Given the description of an element on the screen output the (x, y) to click on. 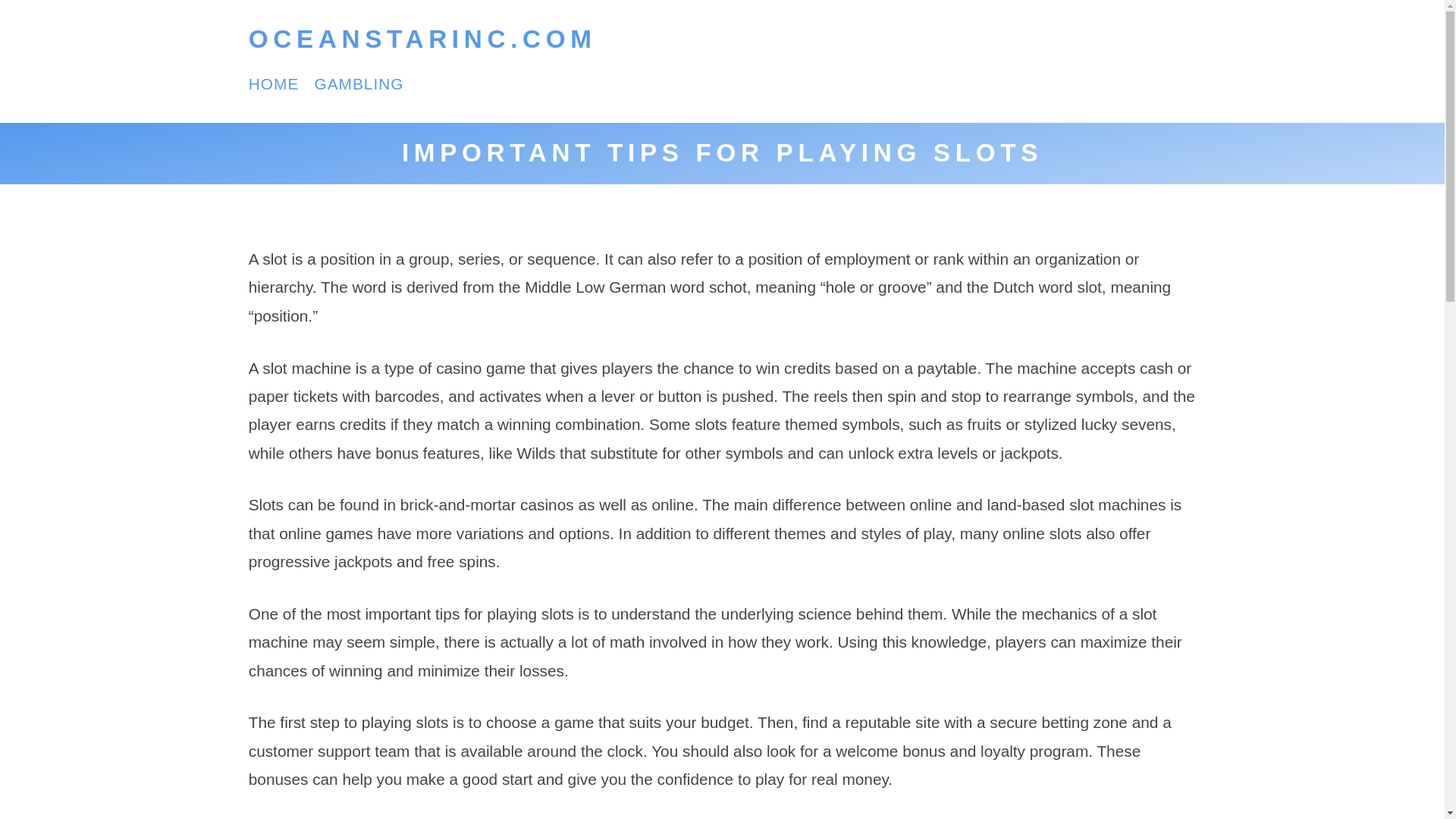
HOME (273, 83)
GAMBLING (358, 83)
OCEANSTARINC.COM (422, 39)
